Given the description of an element on the screen output the (x, y) to click on. 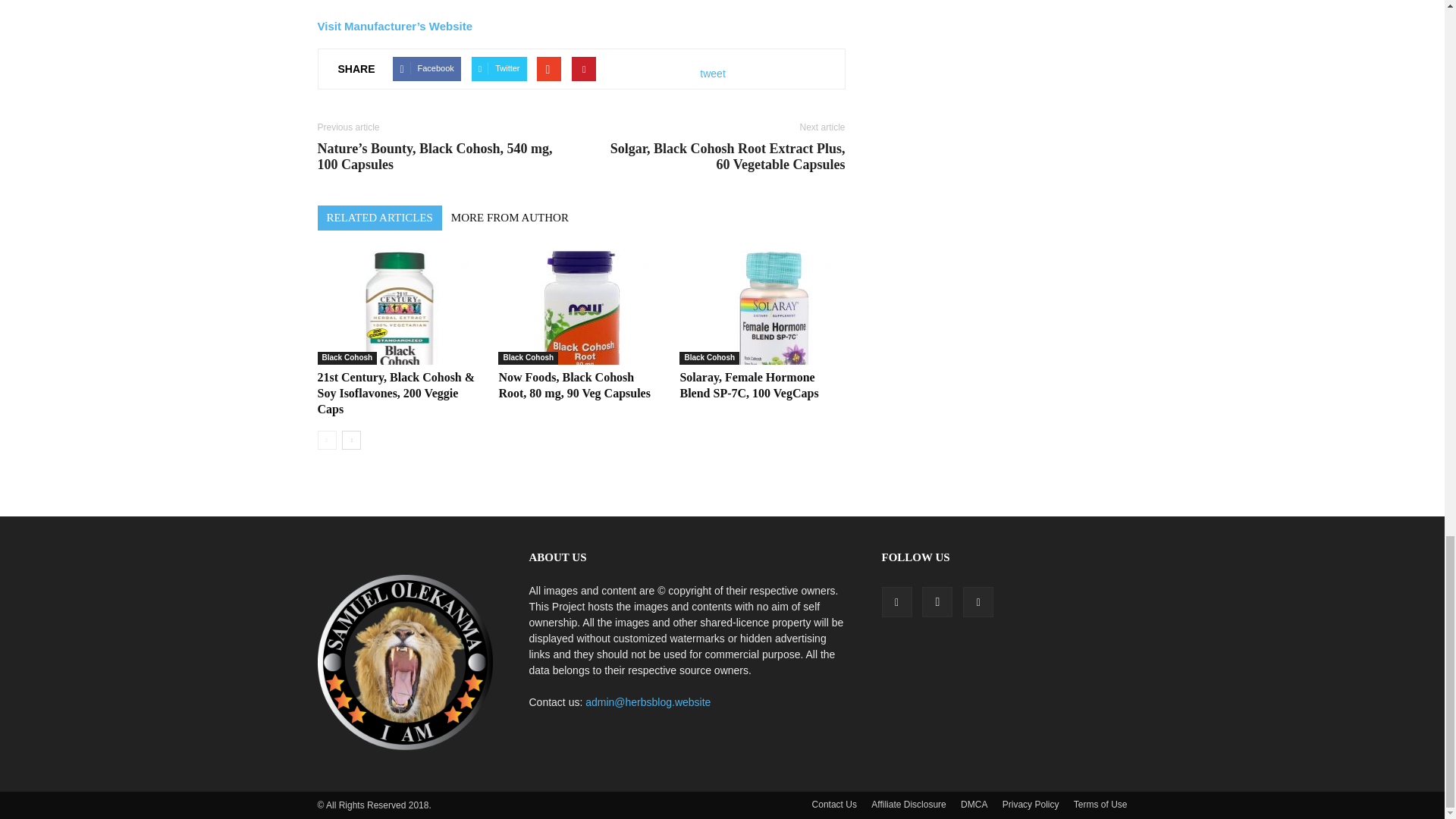
Solaray, Female Hormone Blend SP-7C, 100 VegCaps (748, 385)
Now Foods, Black Cohosh Root, 80 mg, 90 Veg Capsules (573, 385)
Now Foods, Black Cohosh Root, 80 mg, 90 Veg Capsules (580, 307)
Solaray, Female Hormone Blend SP-7C, 100 VegCaps (761, 307)
